Given the description of an element on the screen output the (x, y) to click on. 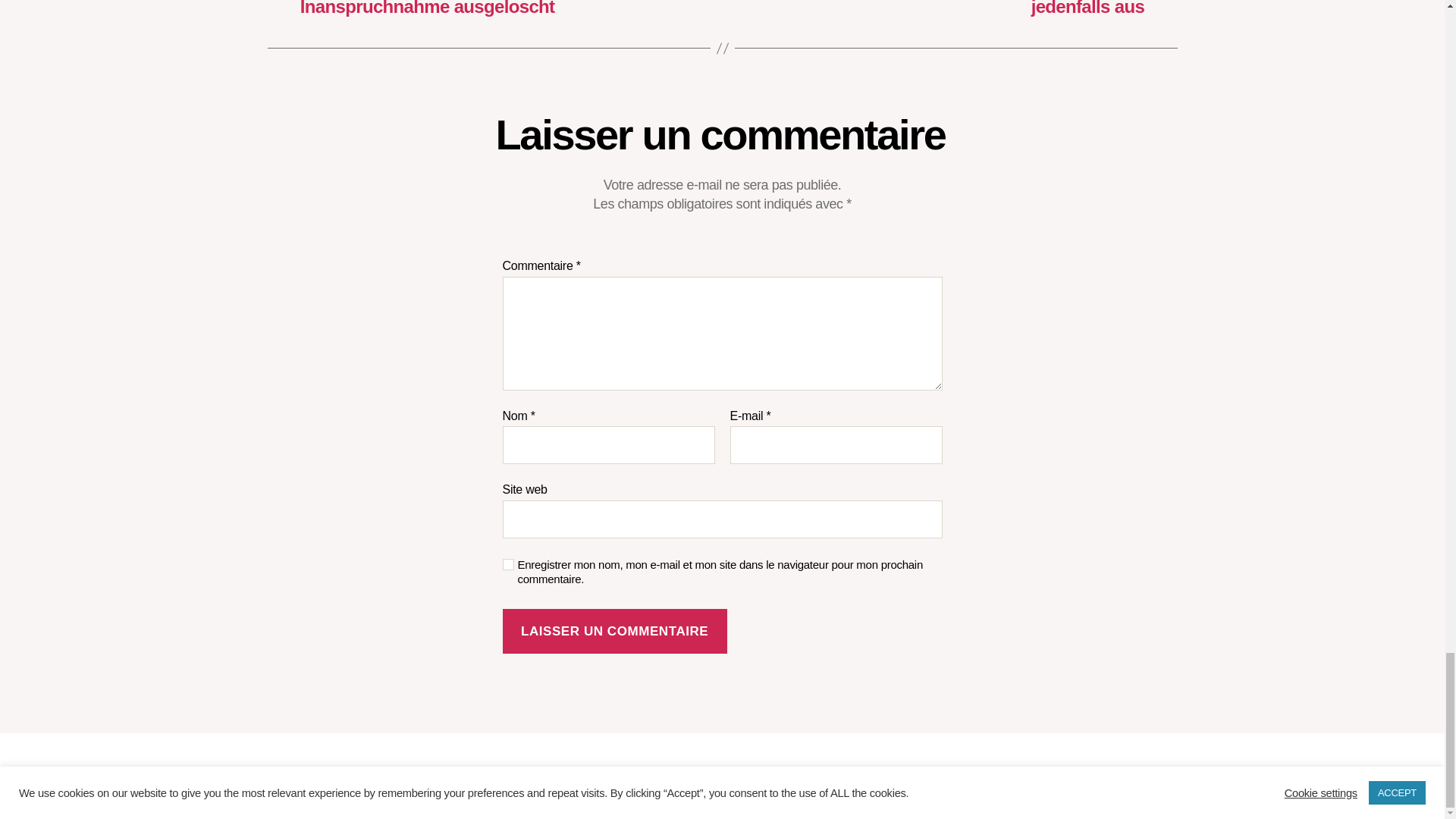
Laisser un commentaire (614, 631)
yes (507, 564)
